Given the description of an element on the screen output the (x, y) to click on. 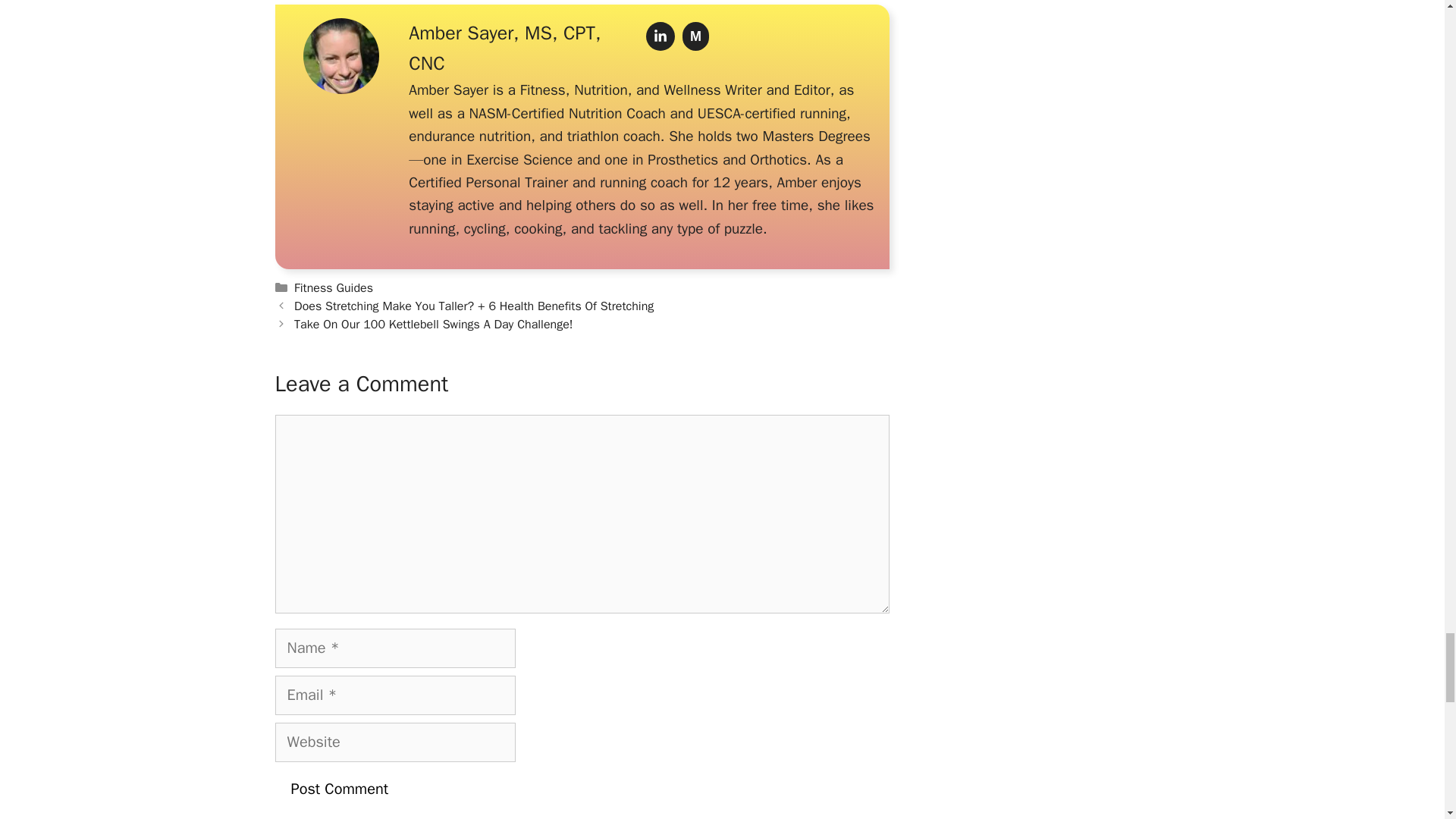
Post Comment (339, 789)
